Given the description of an element on the screen output the (x, y) to click on. 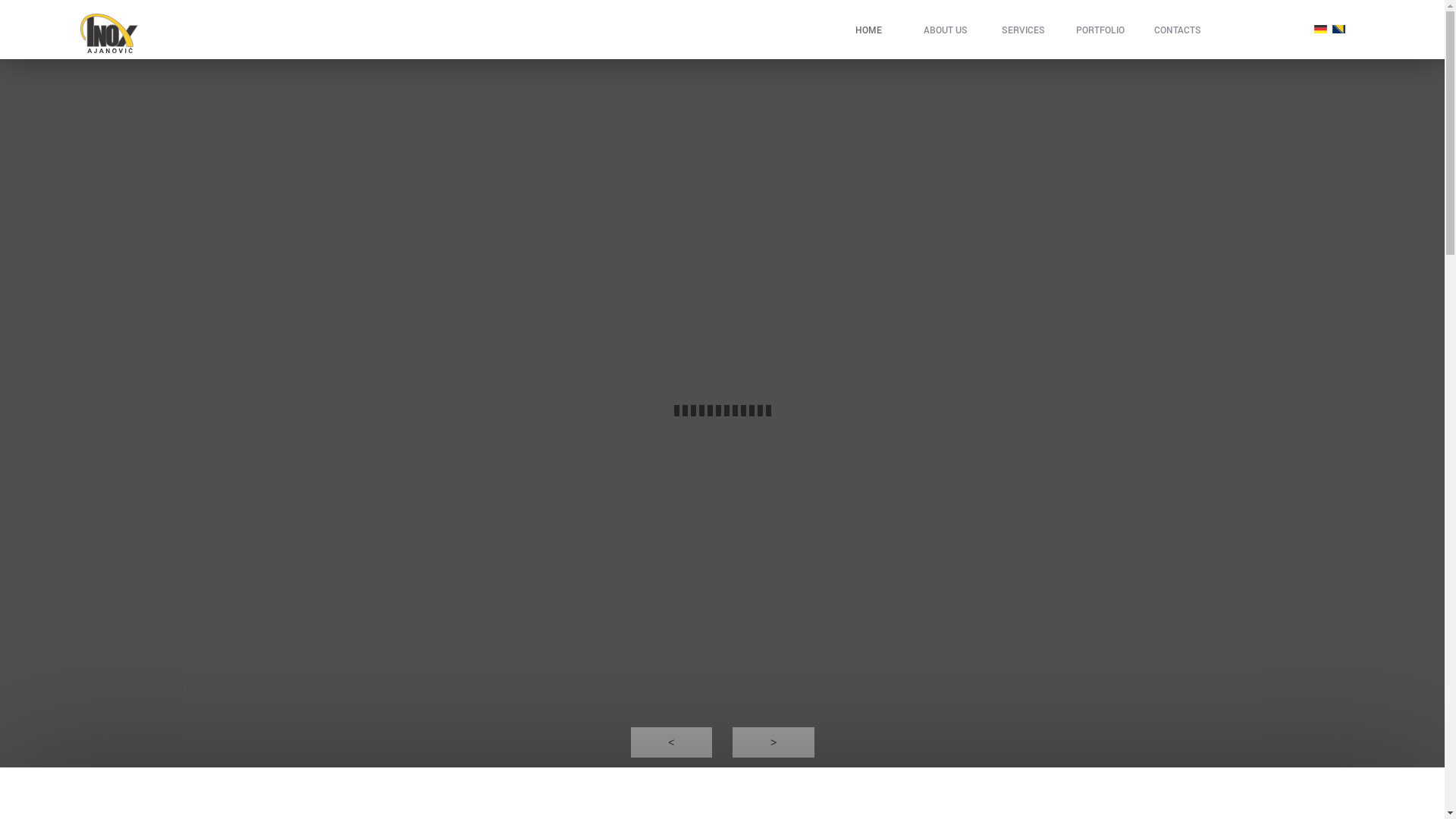
HOME Element type: text (868, 29)
CONTACTS Element type: text (1177, 29)
PORTFOLIO Element type: text (1100, 29)
SERVICES Element type: text (1022, 29)
ABOUT US Element type: text (945, 29)
